Given the description of an element on the screen output the (x, y) to click on. 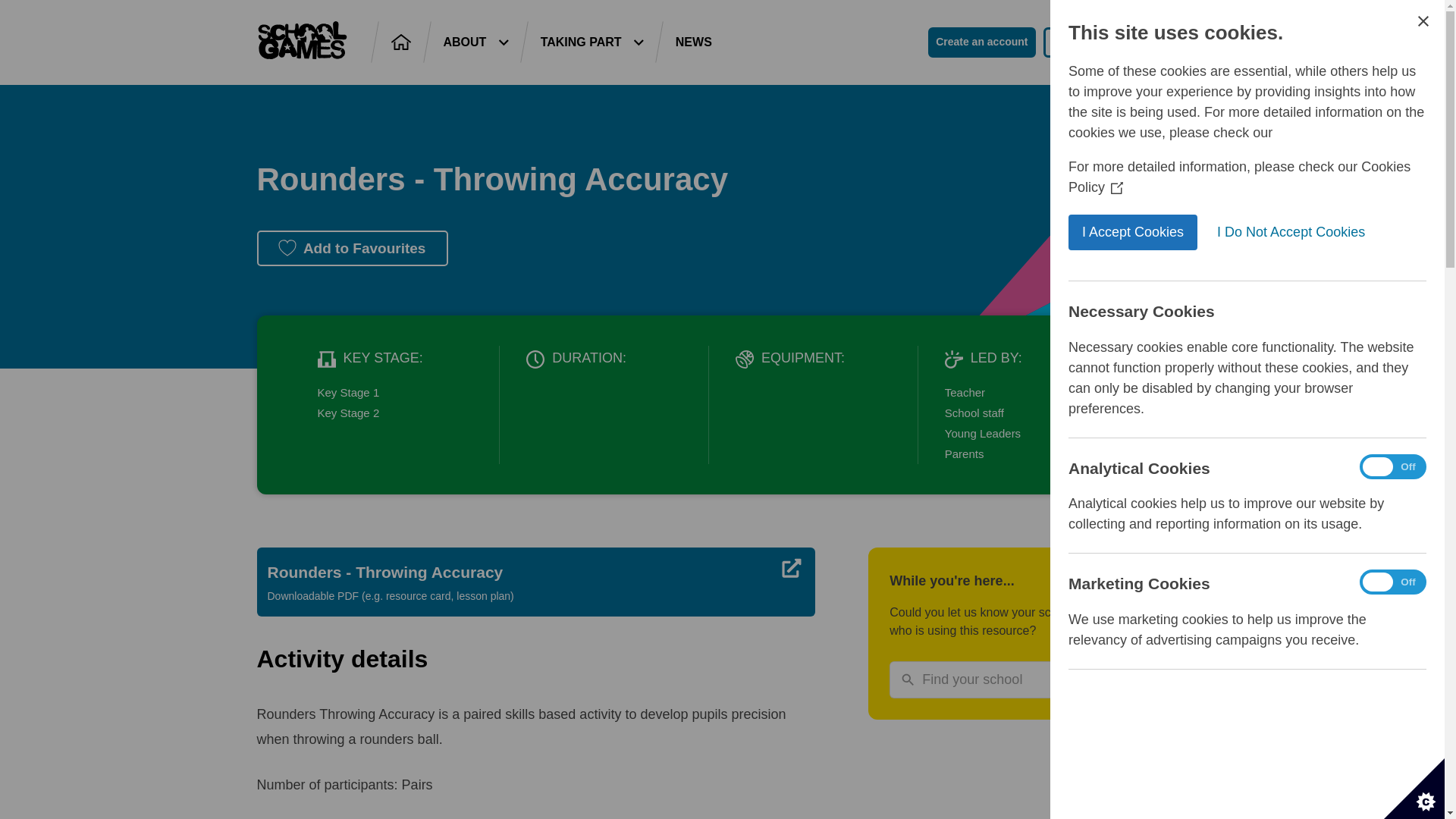
TAKING PART (591, 42)
ABOUT (474, 42)
I Do Not Accept Cookies (1328, 232)
Link icon (793, 568)
I Accept Cookies (1195, 232)
